Given the description of an element on the screen output the (x, y) to click on. 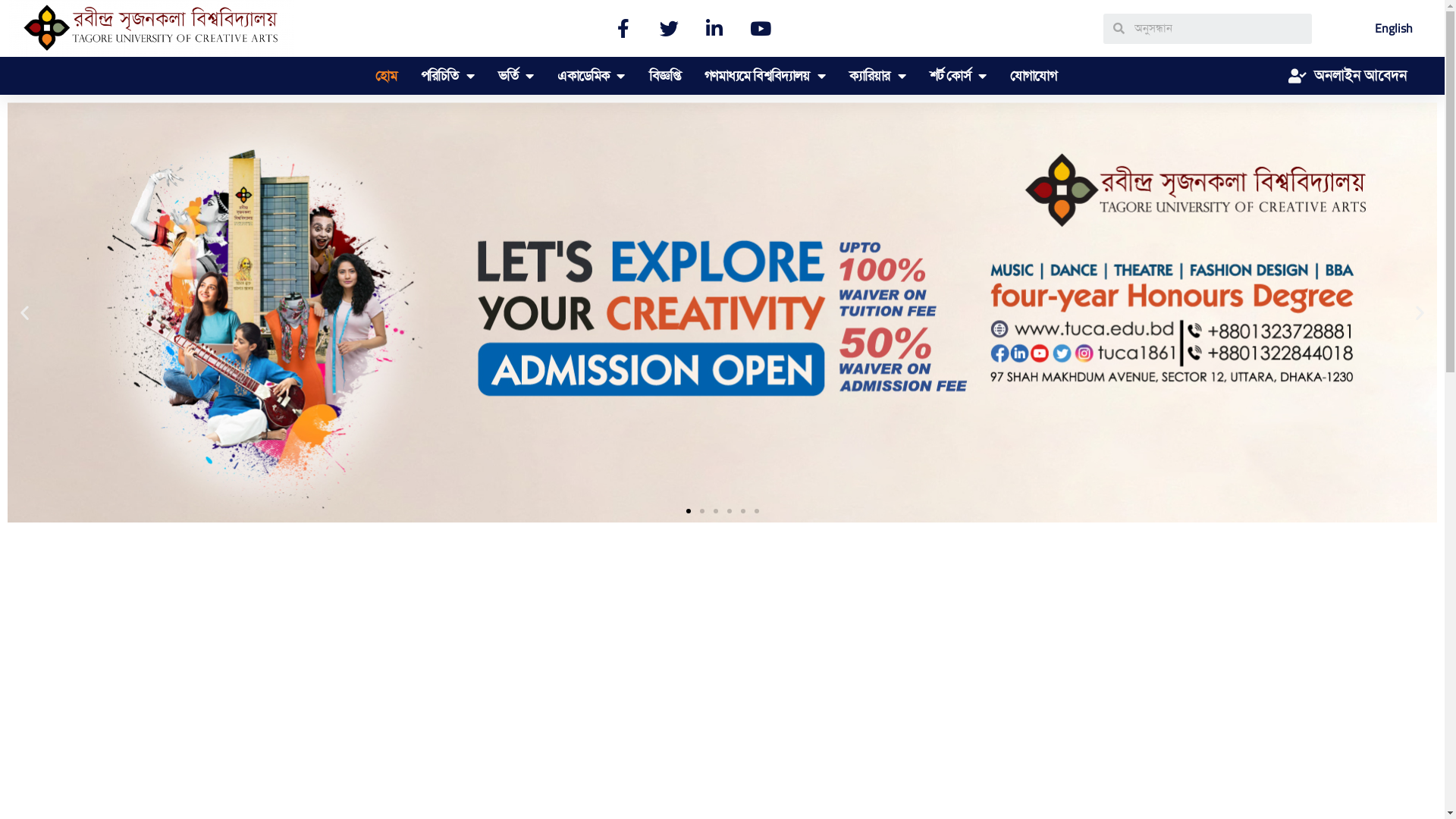
TUCA Element type: hover (151, 28)
English Element type: text (1393, 28)
Search Element type: hover (1217, 28)
